Given the description of an element on the screen output the (x, y) to click on. 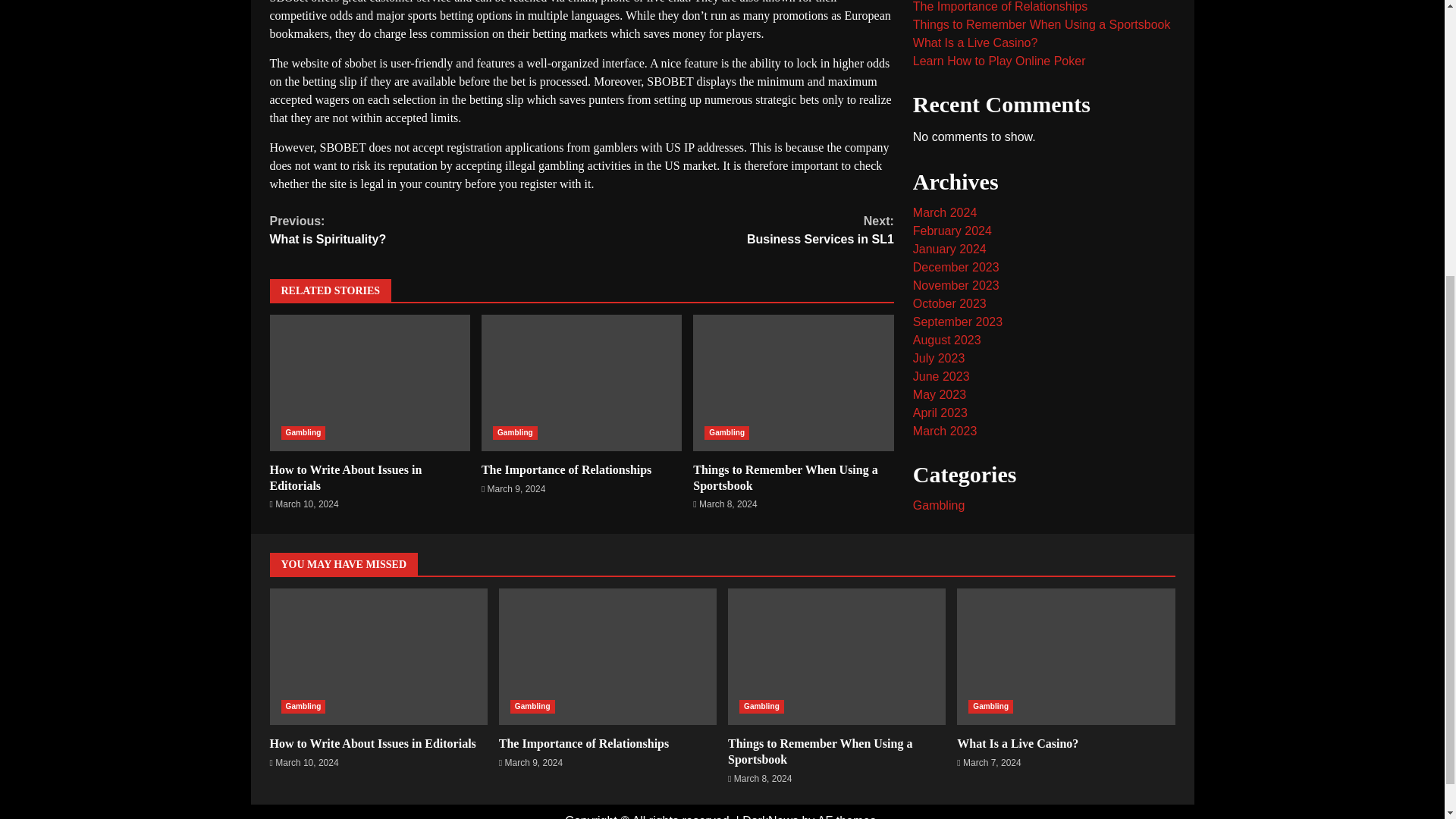
How to Write About Issues in Editorials (345, 477)
November 2023 (955, 206)
Gambling (515, 432)
June 2023 (736, 230)
February 2024 (940, 297)
Gambling (951, 152)
May 2023 (726, 432)
Things to Remember When Using a Sportsbook (939, 316)
The Importance of Relationships (785, 477)
March 2024 (581, 382)
December 2023 (944, 133)
The Importance of Relationships (955, 188)
Gambling (425, 230)
